Given the description of an element on the screen output the (x, y) to click on. 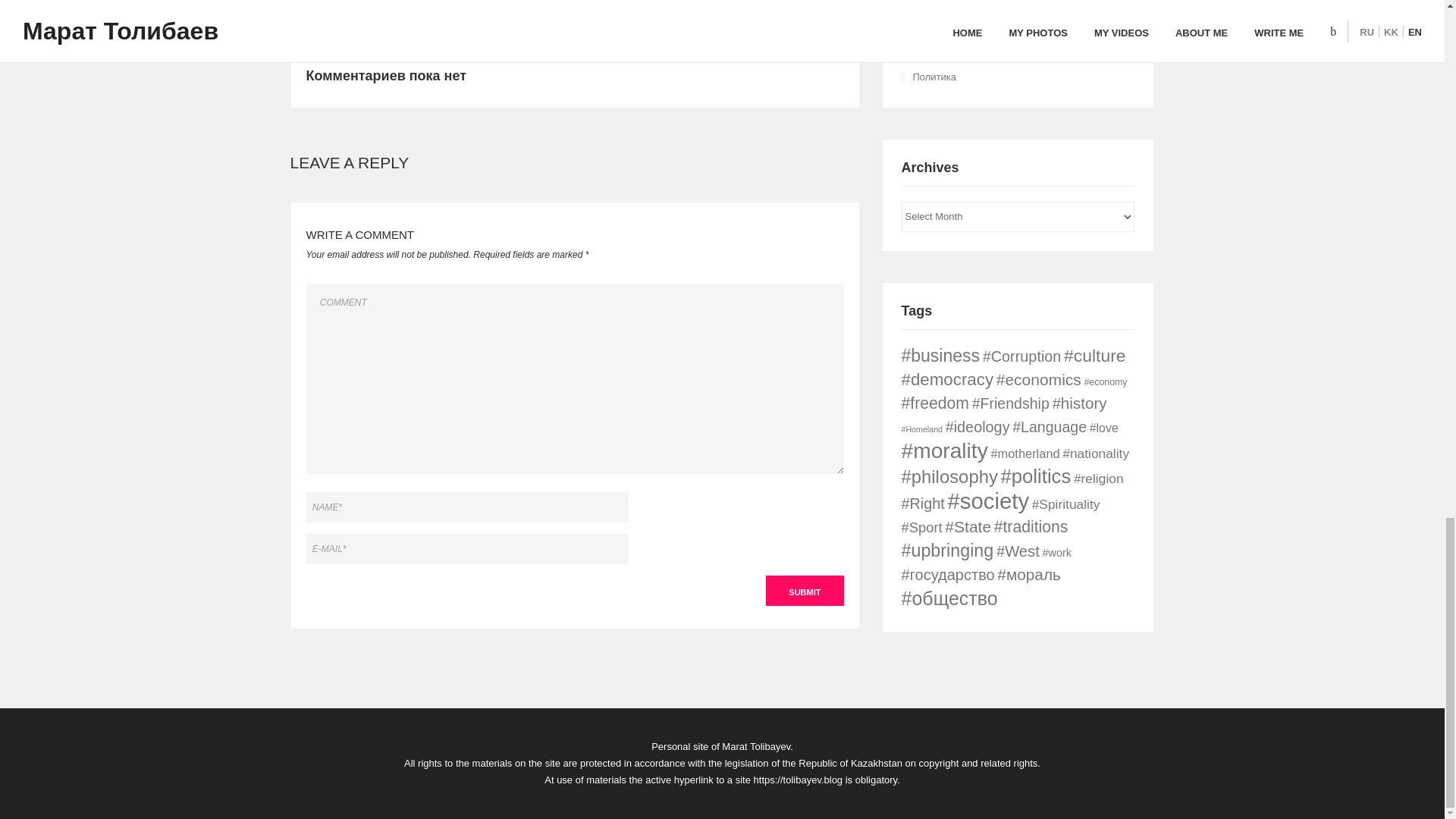
Society (928, 6)
SUBMIT (804, 590)
SUBMIT (804, 590)
